Given the description of an element on the screen output the (x, y) to click on. 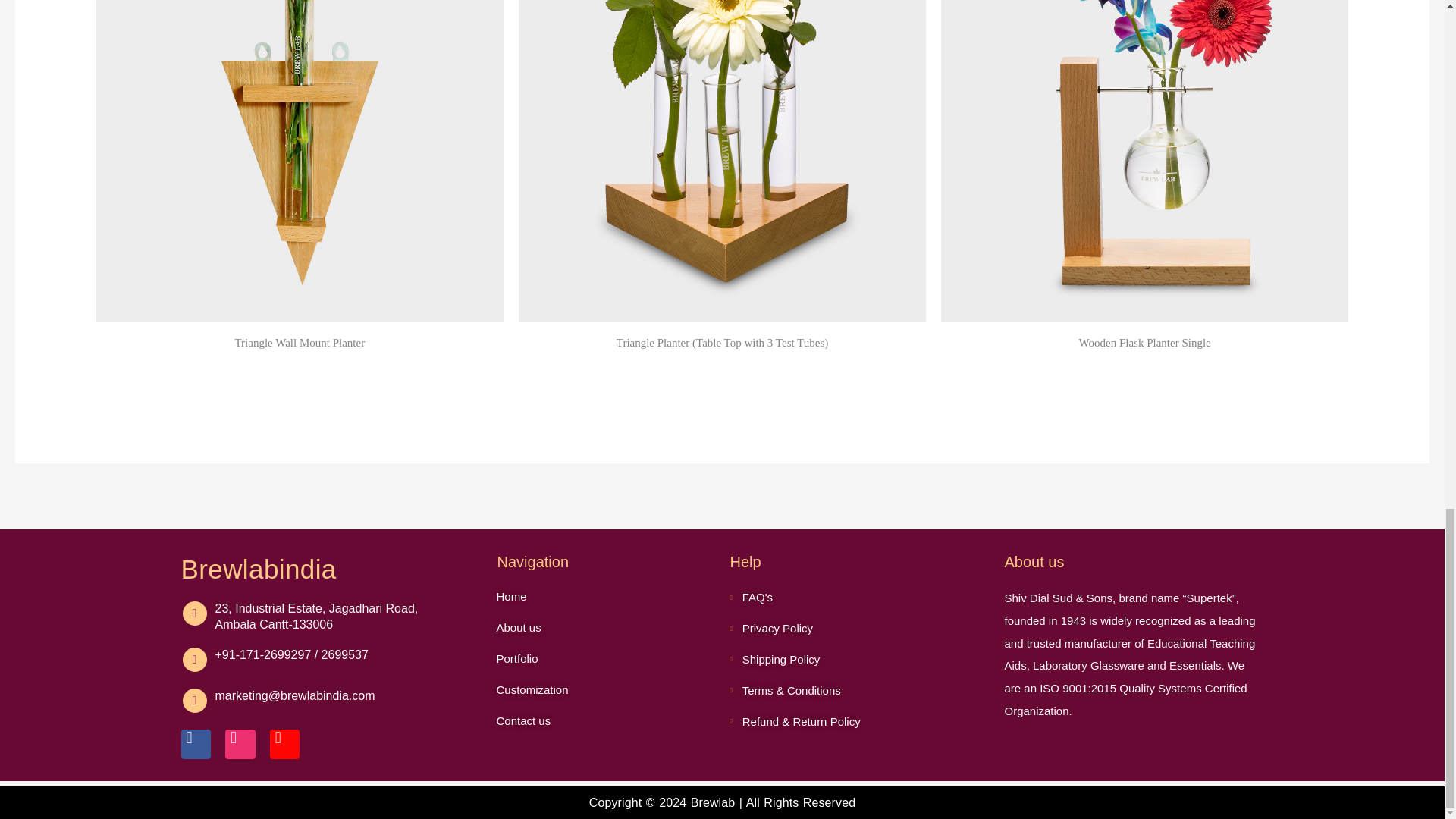
Privacy Policy (858, 628)
Home (581, 596)
Facebook (195, 743)
Shipping Policy (858, 659)
Portfolio (581, 658)
Google-plus-square (284, 743)
About us (581, 627)
Customization (581, 690)
Triangle Wall Mount Planter (299, 345)
Wooden Flask Planter Single (1144, 345)
Contact us (581, 721)
Instagram (240, 743)
